Given the description of an element on the screen output the (x, y) to click on. 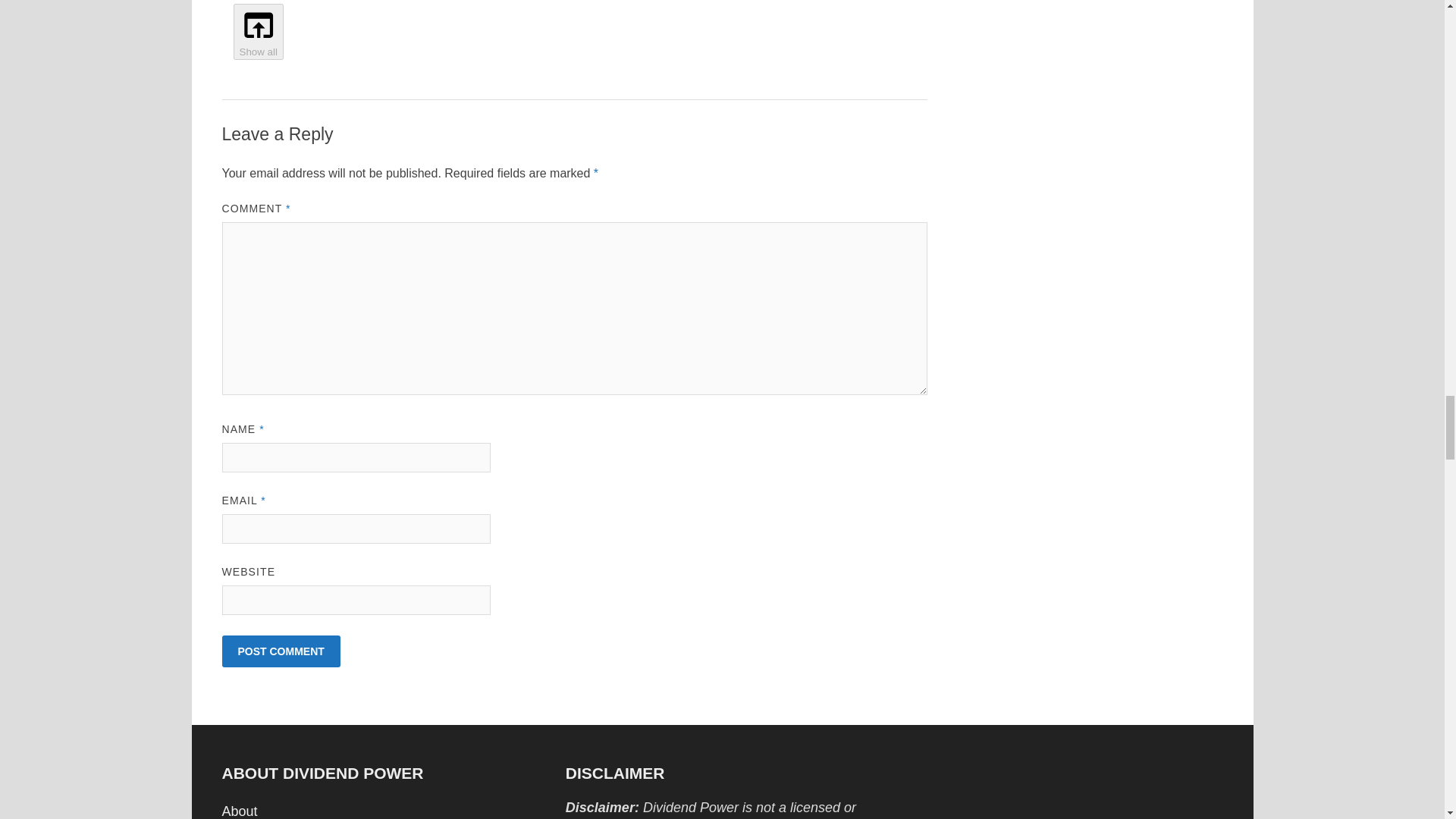
Post Comment (280, 651)
